Given the description of an element on the screen output the (x, y) to click on. 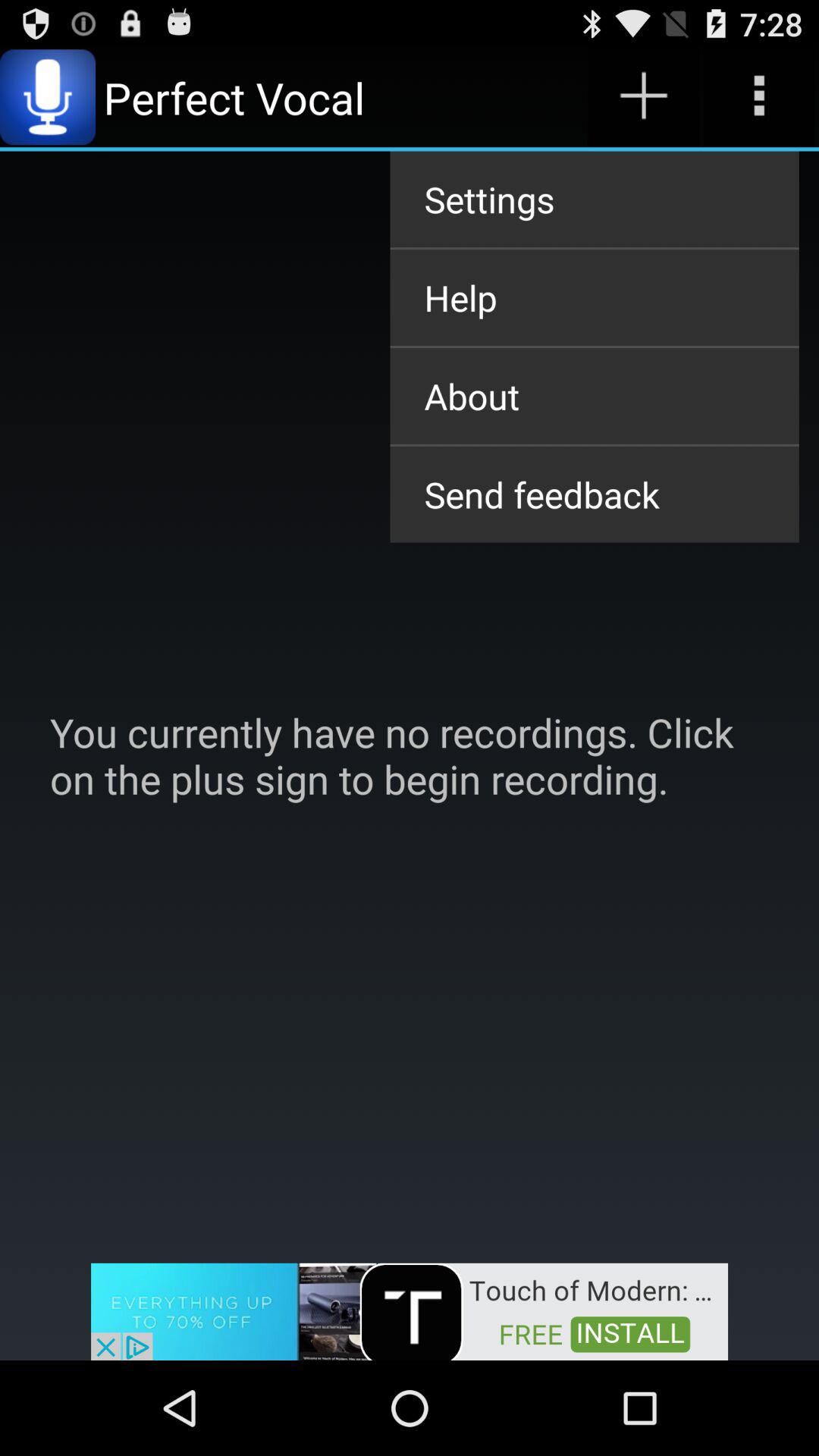
add record (643, 97)
